Given the description of an element on the screen output the (x, y) to click on. 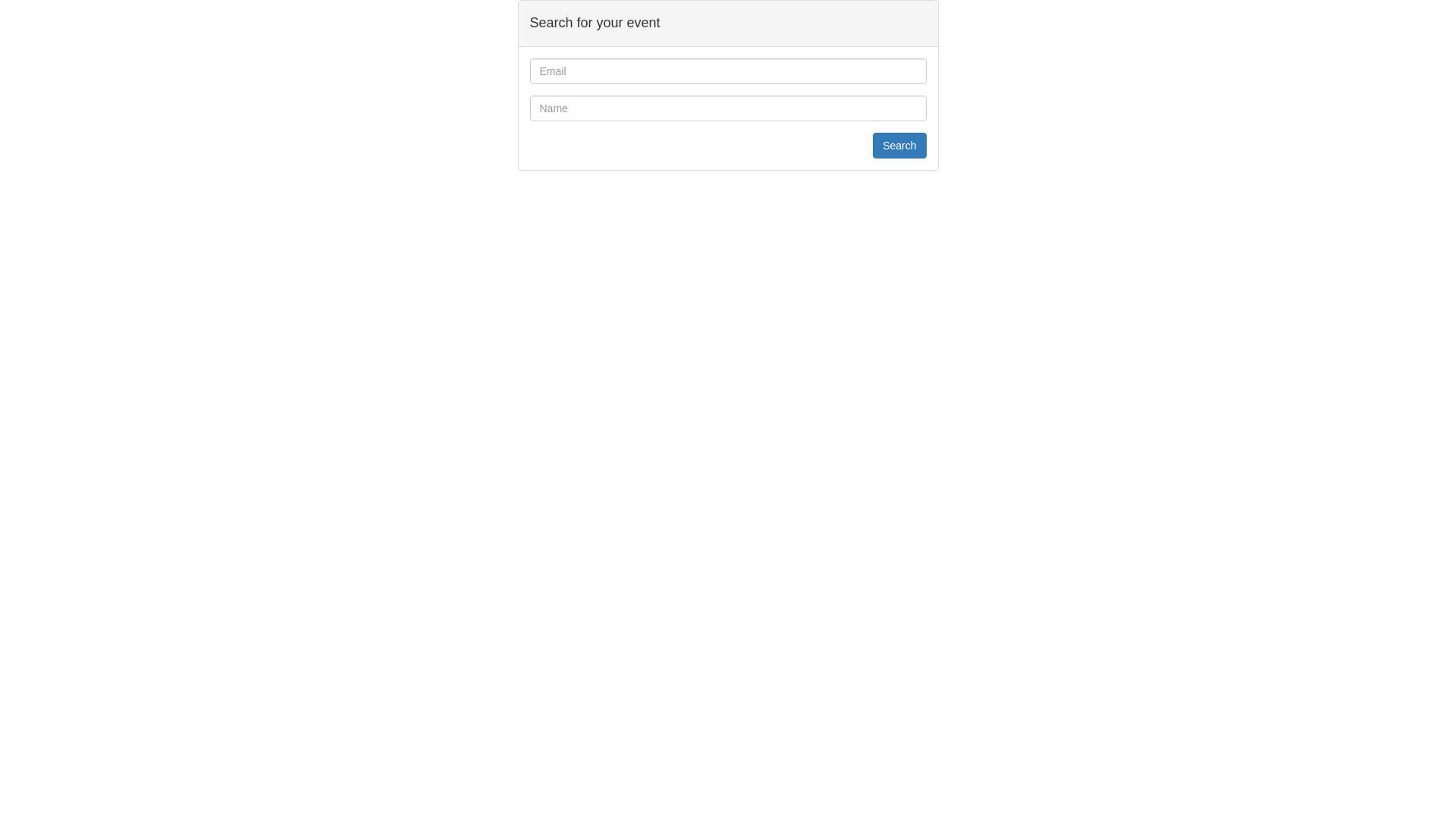
Search Element type: text (898, 145)
